Given the description of an element on the screen output the (x, y) to click on. 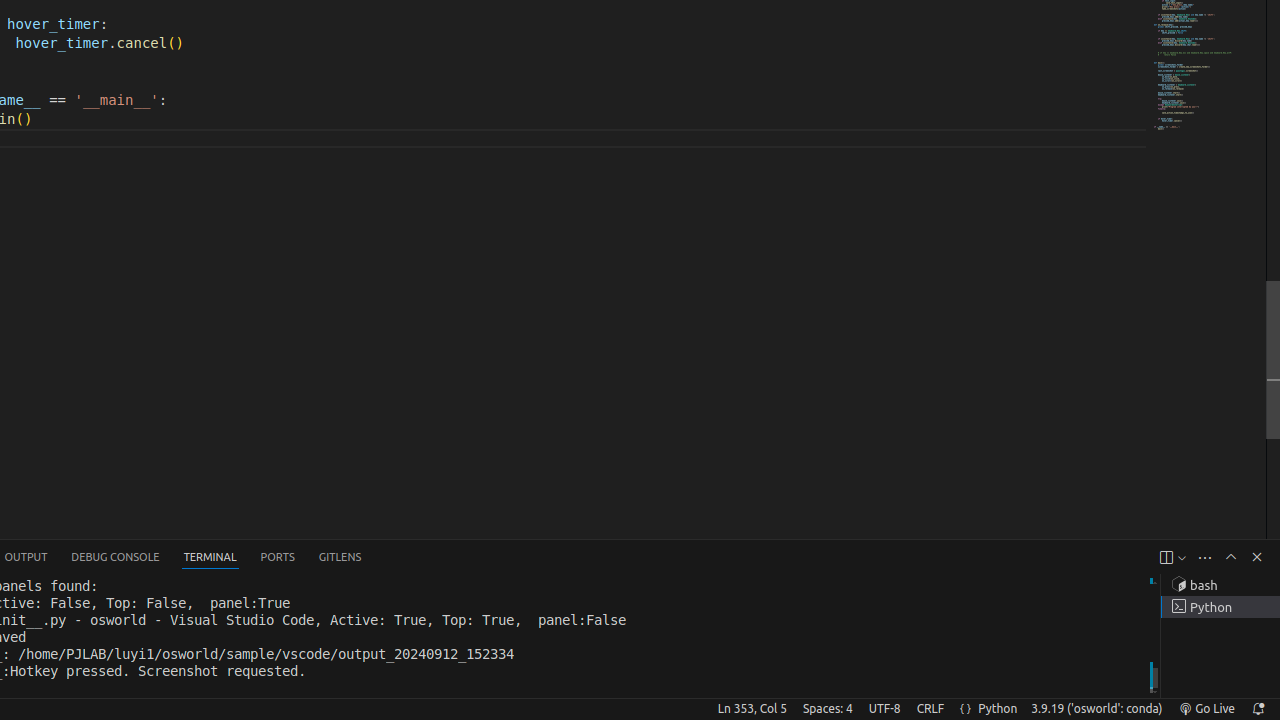
Ports Element type: page-tab (277, 557)
Hide Panel Element type: push-button (1257, 557)
Debug Console (Ctrl+Shift+Y) Element type: page-tab (115, 557)
Terminal (Ctrl+`) Element type: page-tab (210, 557)
Spaces: 4 Element type: push-button (827, 709)
